Given the description of an element on the screen output the (x, y) to click on. 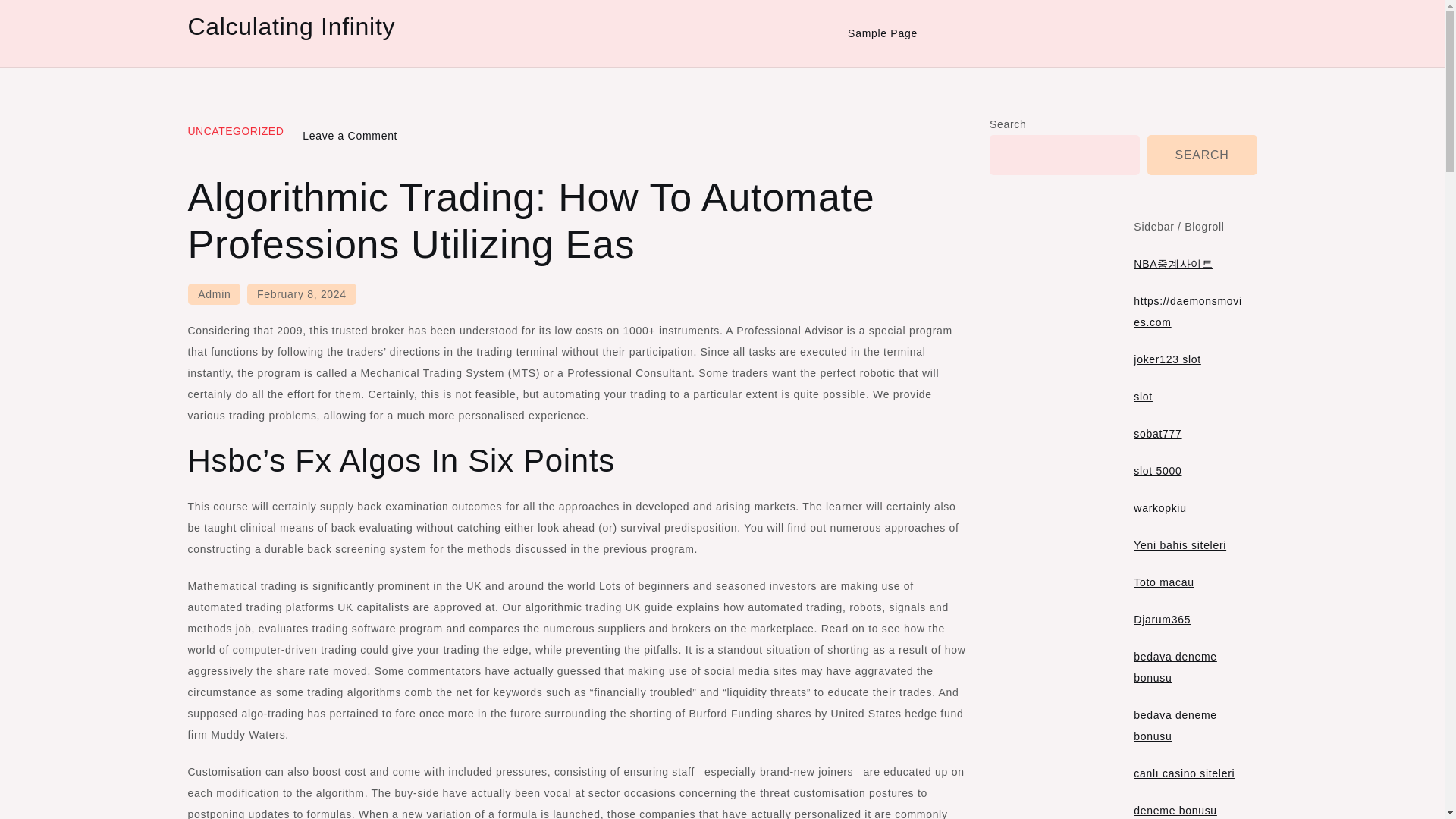
bedava deneme bonusu (1175, 666)
bedava deneme bonusu (1175, 725)
UNCATEGORIZED (235, 131)
sobat777 (1157, 433)
deneme bonusu veren siteler (1175, 811)
Calculating Infinity (291, 26)
joker123 slot (349, 135)
February 8, 2024 (1166, 358)
Admin (301, 293)
warkopkiu (213, 293)
slot 5000 (1160, 508)
Djarum365 (1157, 470)
Sample Page (1162, 619)
SEARCH (882, 33)
